Given the description of an element on the screen output the (x, y) to click on. 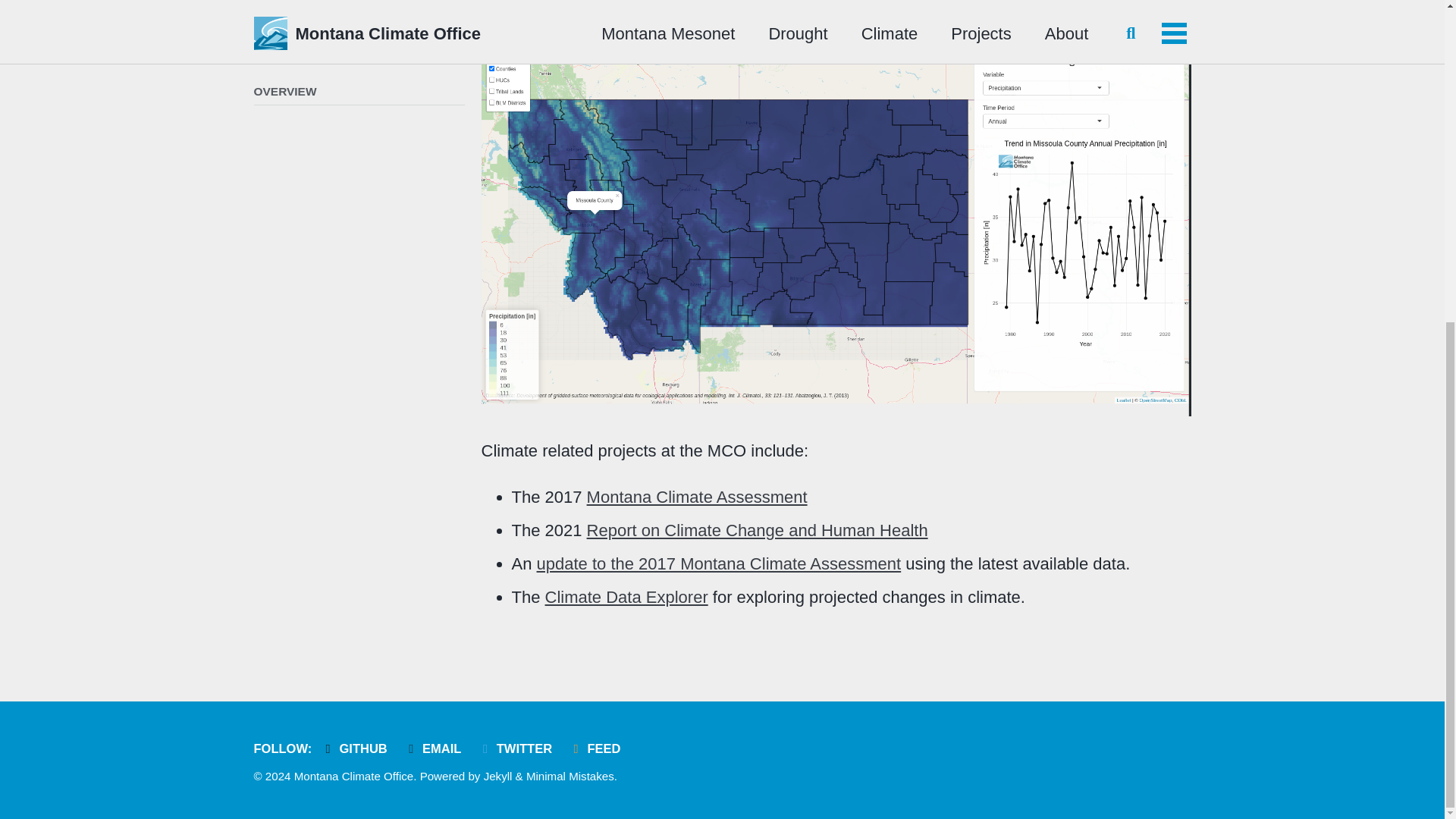
Montana Climate Assessment (697, 496)
Minimal Mistakes (569, 775)
Climate Data Explorer (625, 597)
EMAIL (435, 748)
Report on Climate Change and Human Health (757, 529)
TWITTER (518, 748)
FEED (597, 748)
update to the 2017 Montana Climate Assessment (719, 563)
Jekyll (497, 775)
GITHUB (357, 748)
